Given the description of an element on the screen output the (x, y) to click on. 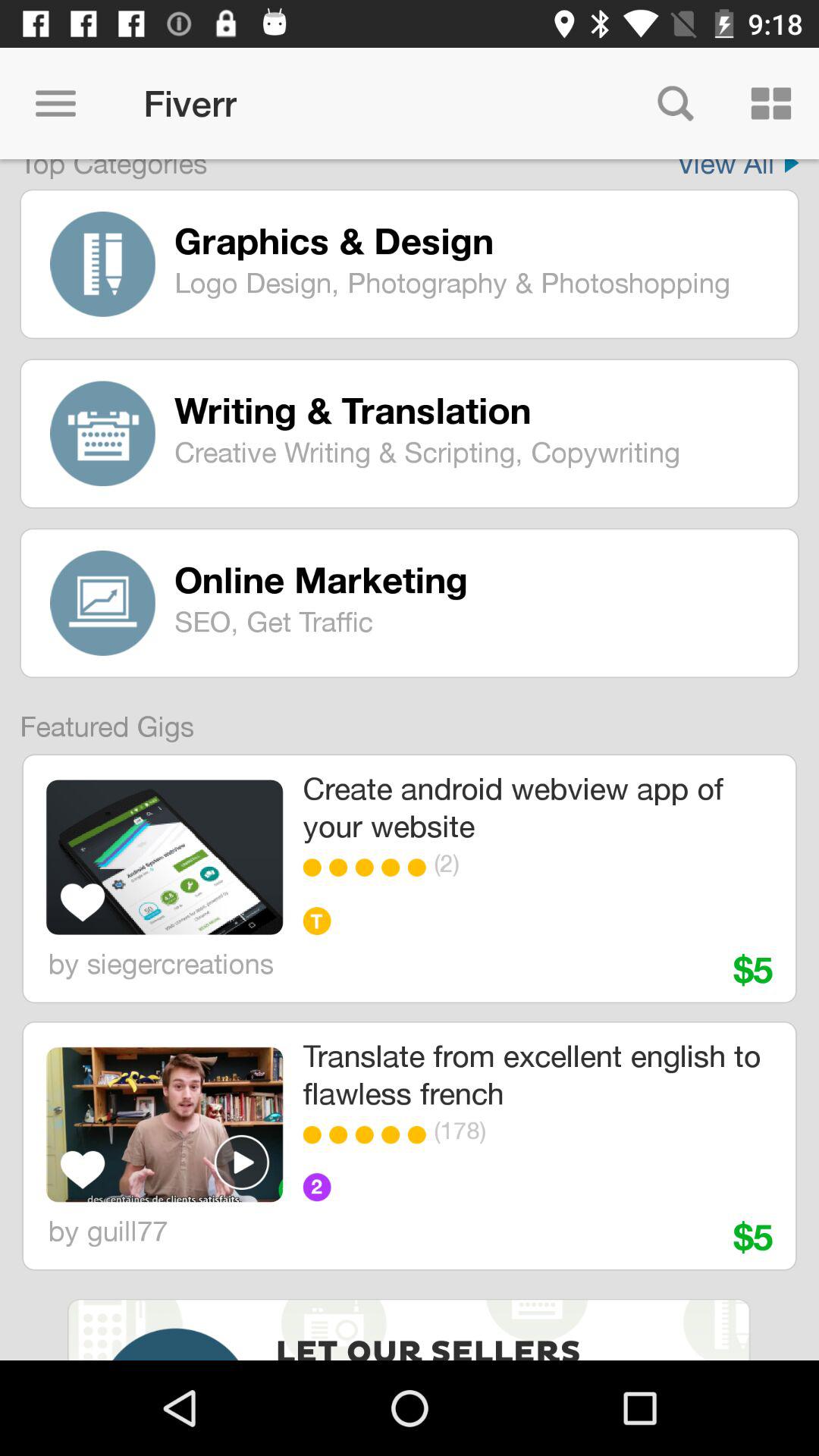
play button (242, 1161)
